Given the description of an element on the screen output the (x, y) to click on. 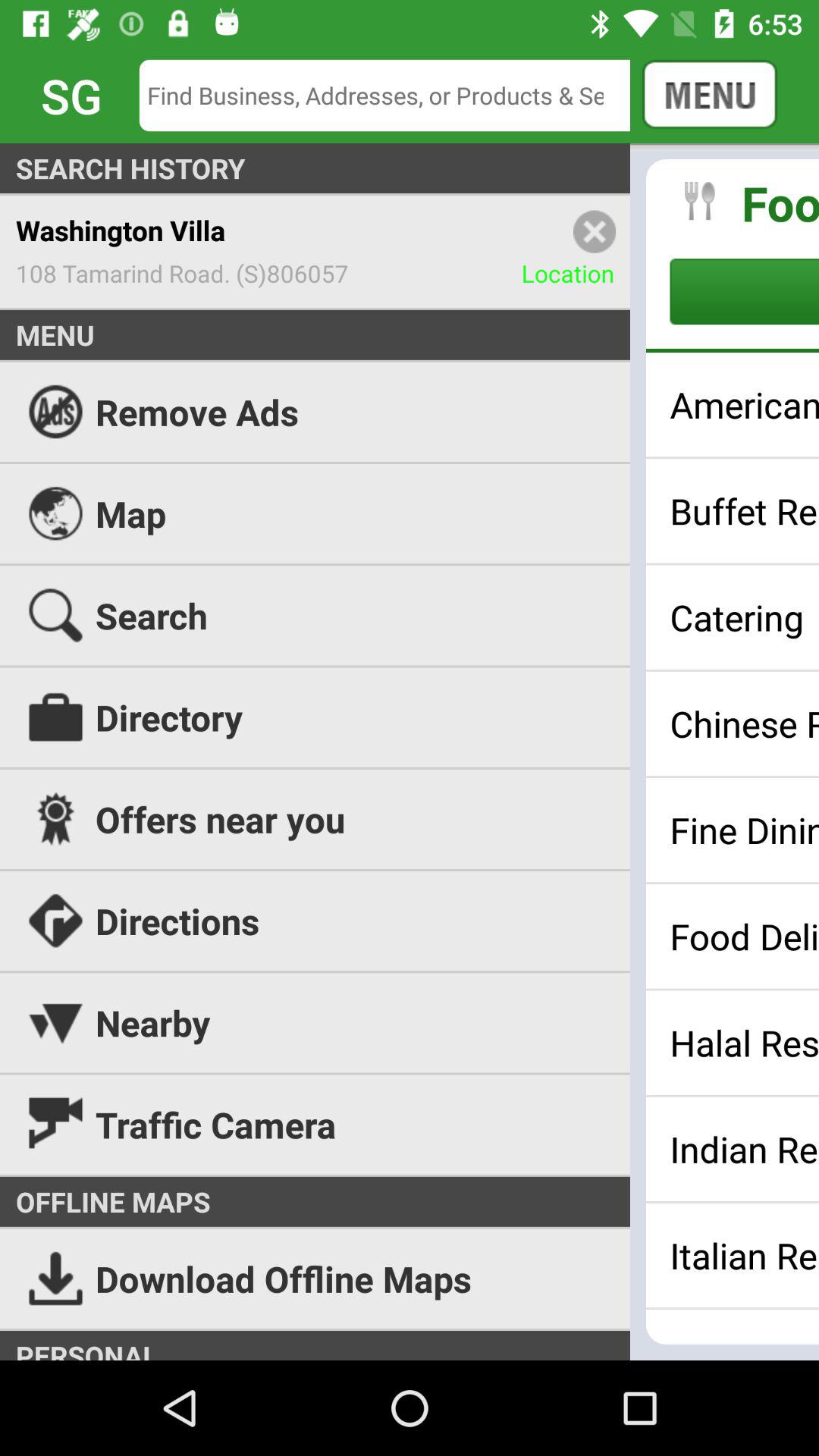
searching (395, 95)
